Given the description of an element on the screen output the (x, y) to click on. 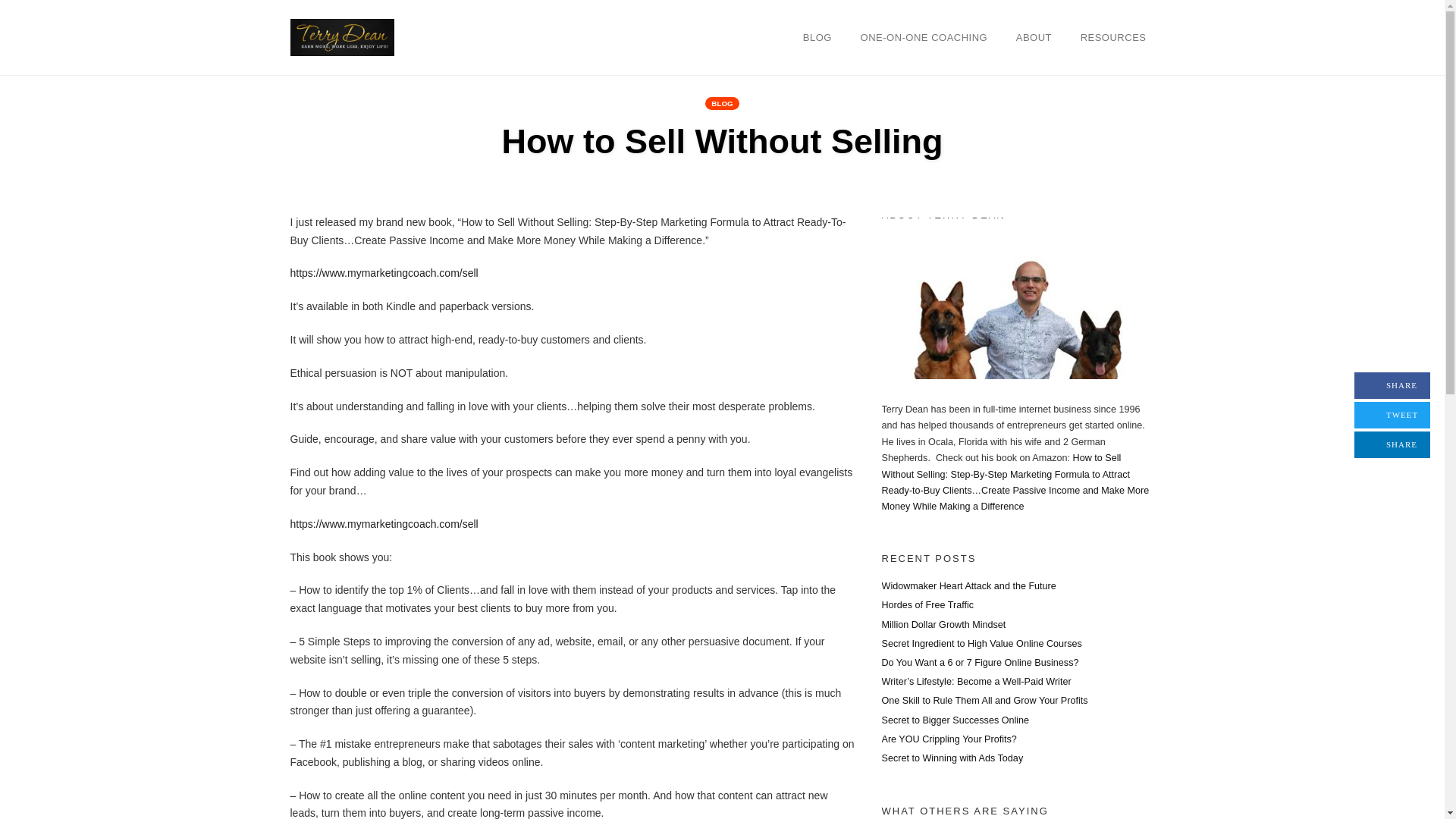
BLOG (721, 103)
Are YOU Crippling Your Profits? (948, 738)
Secret to Bigger Successes Online (954, 719)
Hordes of Free Traffic (927, 604)
ONE-ON-ONE COACHING (923, 37)
Digital Marketing Coach Terry Dean (341, 37)
How to Sell Without Selling (721, 141)
BLOG (817, 37)
Secret to Winning with Ads Today (951, 757)
One Skill to Rule Them All and Grow Your Profits (983, 700)
